Given the description of an element on the screen output the (x, y) to click on. 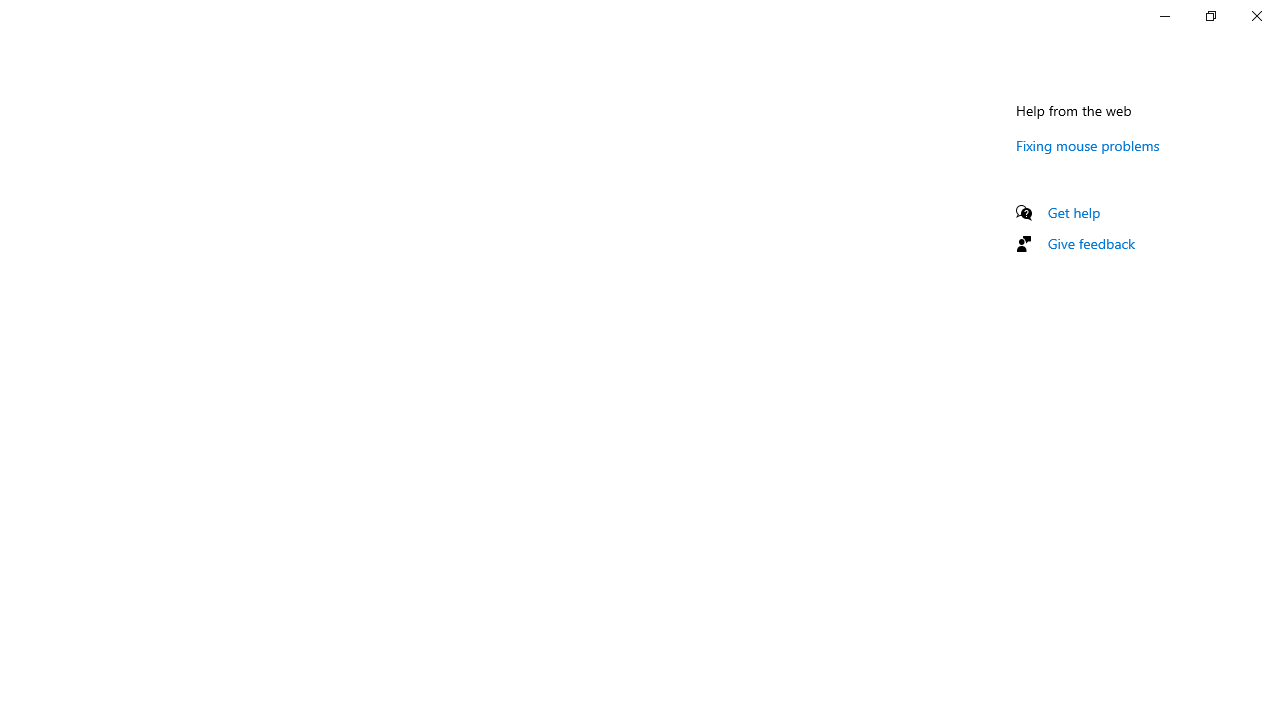
Give feedback (1091, 243)
Close Settings (1256, 15)
Get help (1074, 212)
Fixing mouse problems (1087, 145)
Restore Settings (1210, 15)
Minimize Settings (1164, 15)
